Given the description of an element on the screen output the (x, y) to click on. 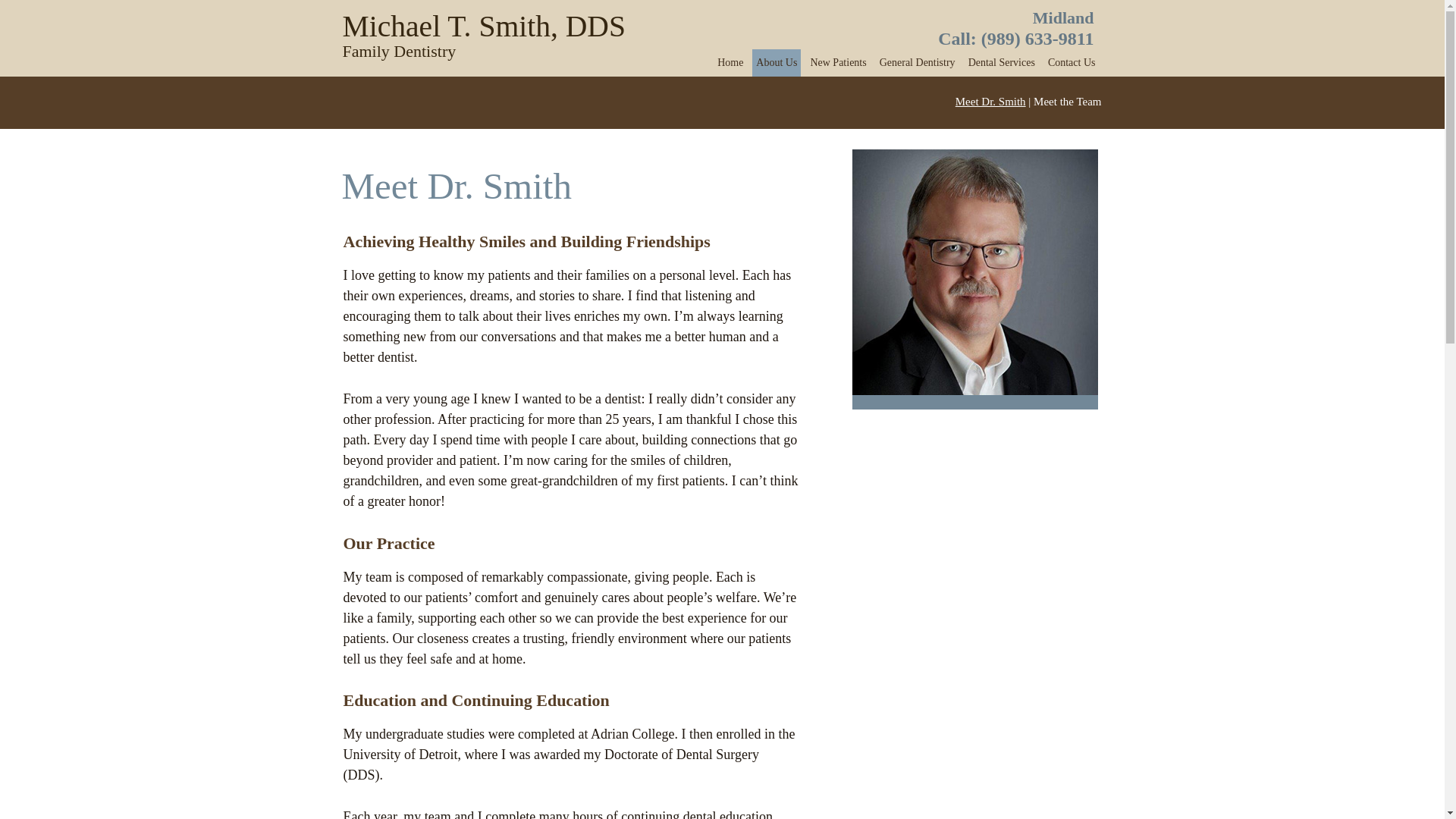
Midland (1063, 17)
Meet Dr. Smith (990, 101)
Home (729, 62)
About Us (776, 62)
General Dentistry (917, 62)
Dental Services (539, 38)
New Patients (1001, 62)
Contact Us (837, 62)
Meet the Team (1071, 62)
